Given the description of an element on the screen output the (x, y) to click on. 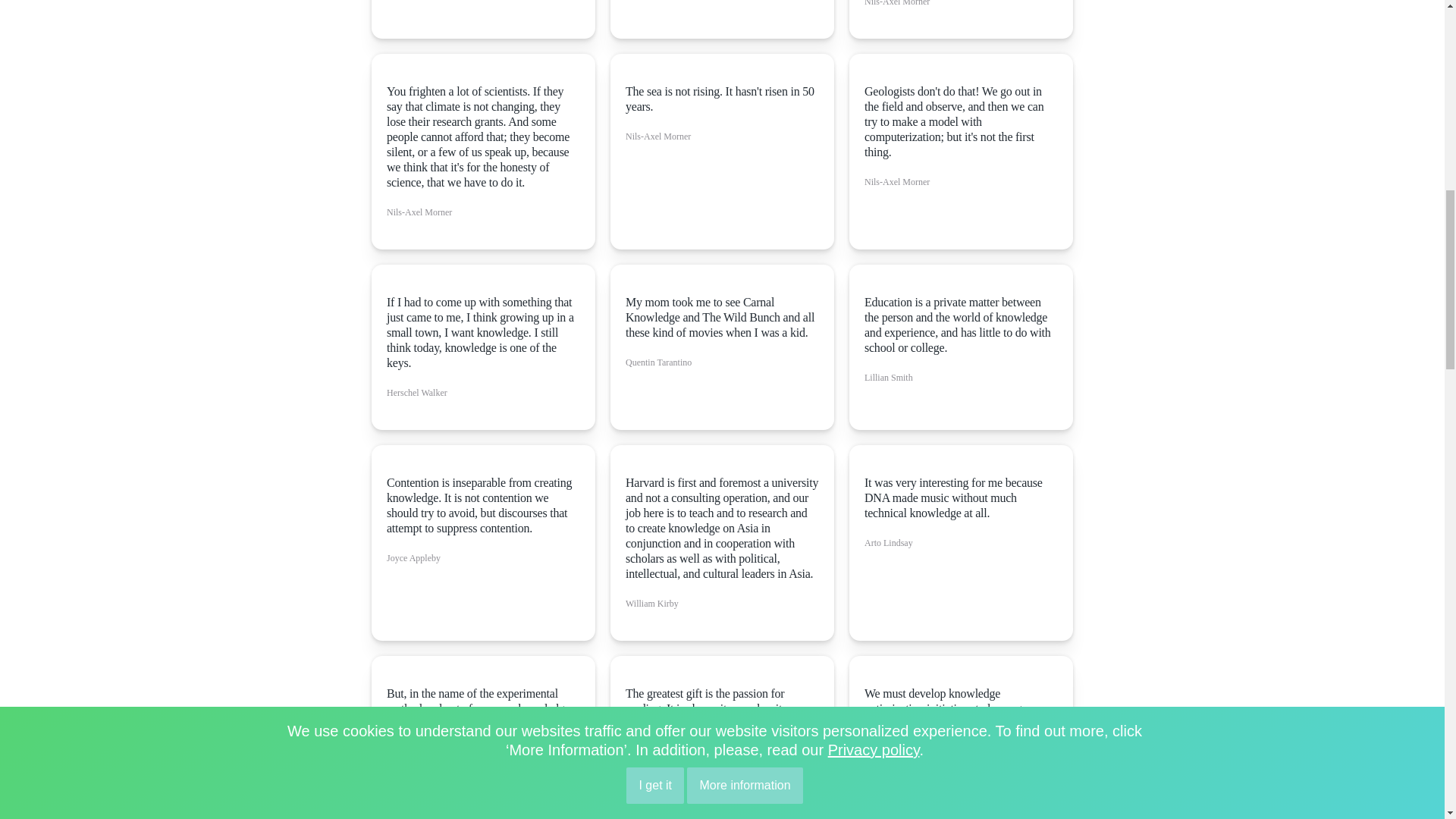
The sea is not rising. It hasn't risen in 50 years. (722, 98)
